Given the description of an element on the screen output the (x, y) to click on. 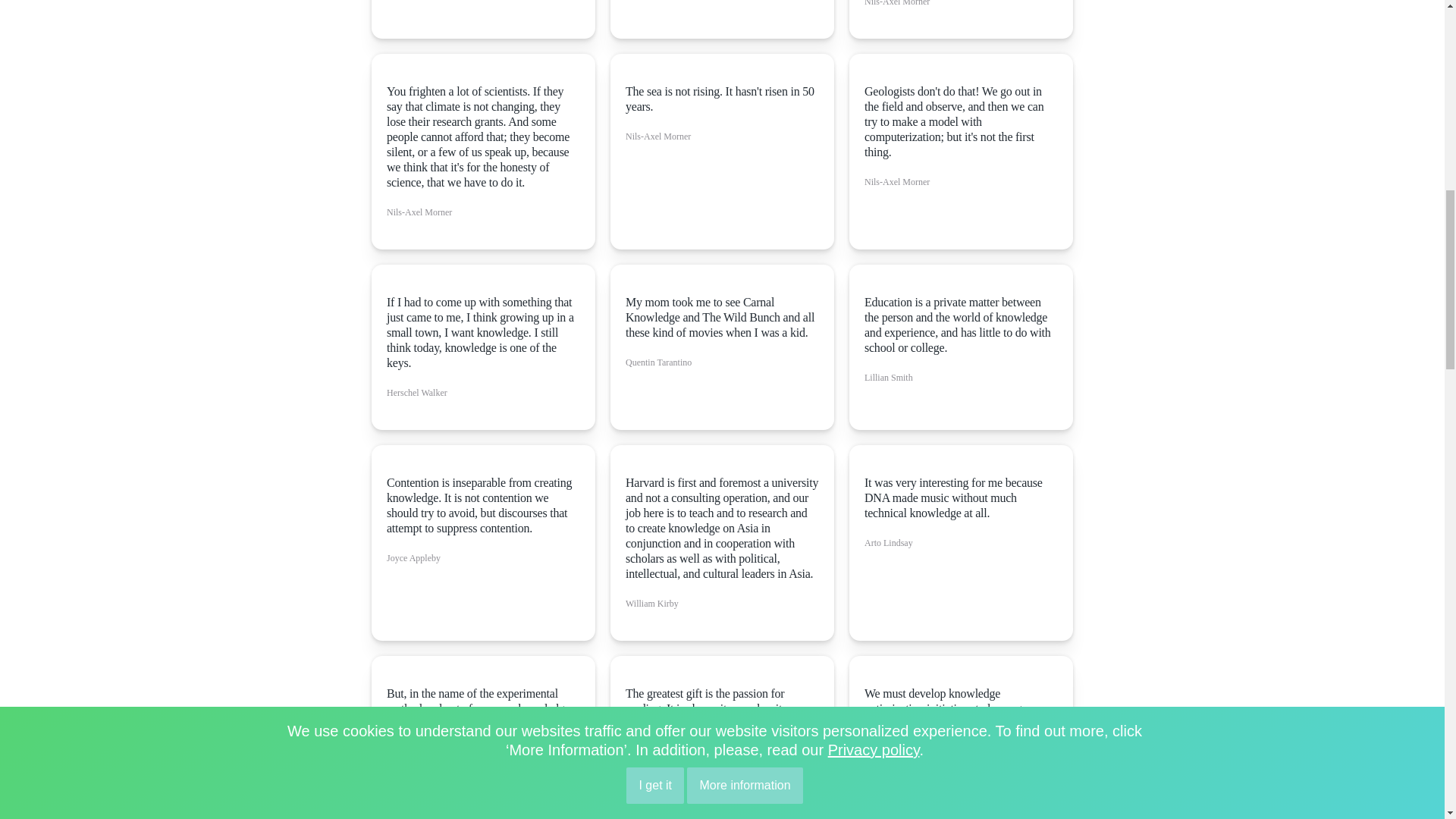
The sea is not rising. It hasn't risen in 50 years. (722, 98)
